Given the description of an element on the screen output the (x, y) to click on. 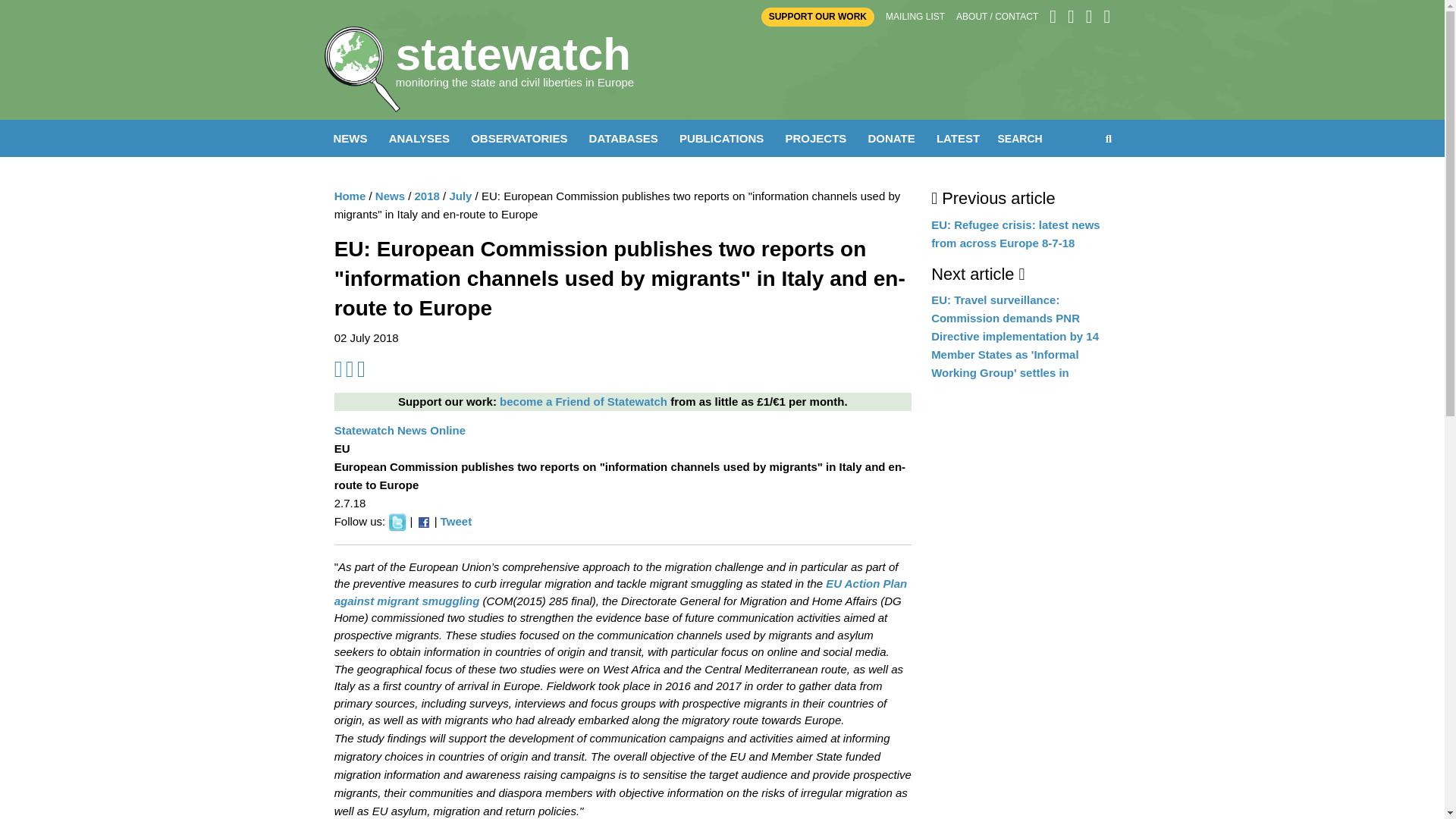
OBSERVATORIES (518, 138)
PROJECTS (814, 138)
ANALYSES (418, 138)
July (459, 195)
Donate (582, 400)
Home (350, 195)
News (389, 195)
PUBLICATIONS (721, 138)
NEWS (350, 138)
DONATE (890, 138)
DATABASES (623, 138)
LATEST (957, 138)
SUPPORT OUR WORK (818, 16)
2018 (426, 195)
